Given the description of an element on the screen output the (x, y) to click on. 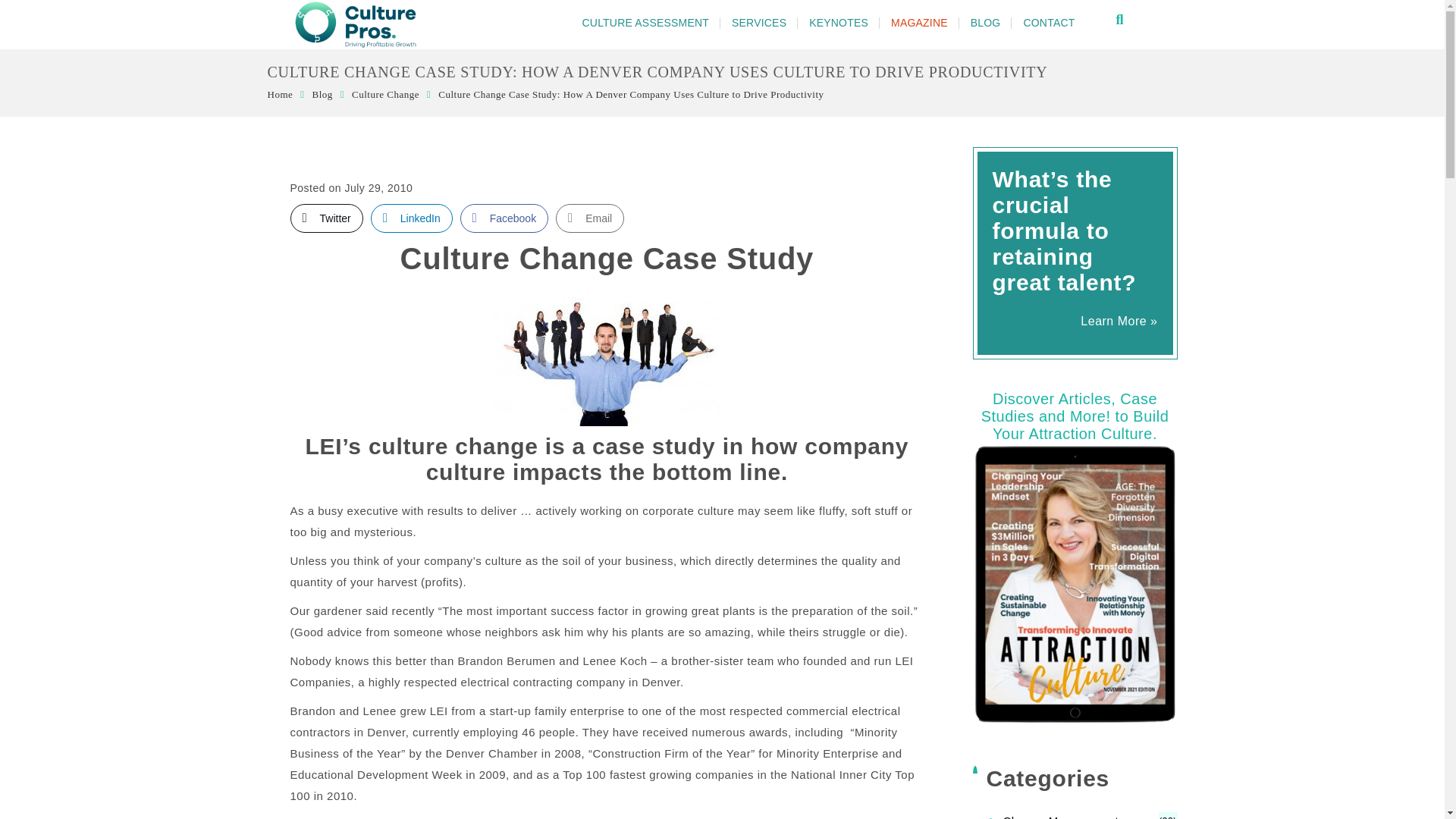
KEYNOTES (838, 22)
Culture Change (385, 93)
SERVICES (758, 22)
MAGAZINE (919, 22)
Email (590, 217)
Facebook (504, 217)
business man and his team (606, 358)
BLOG (985, 22)
